Given the description of an element on the screen output the (x, y) to click on. 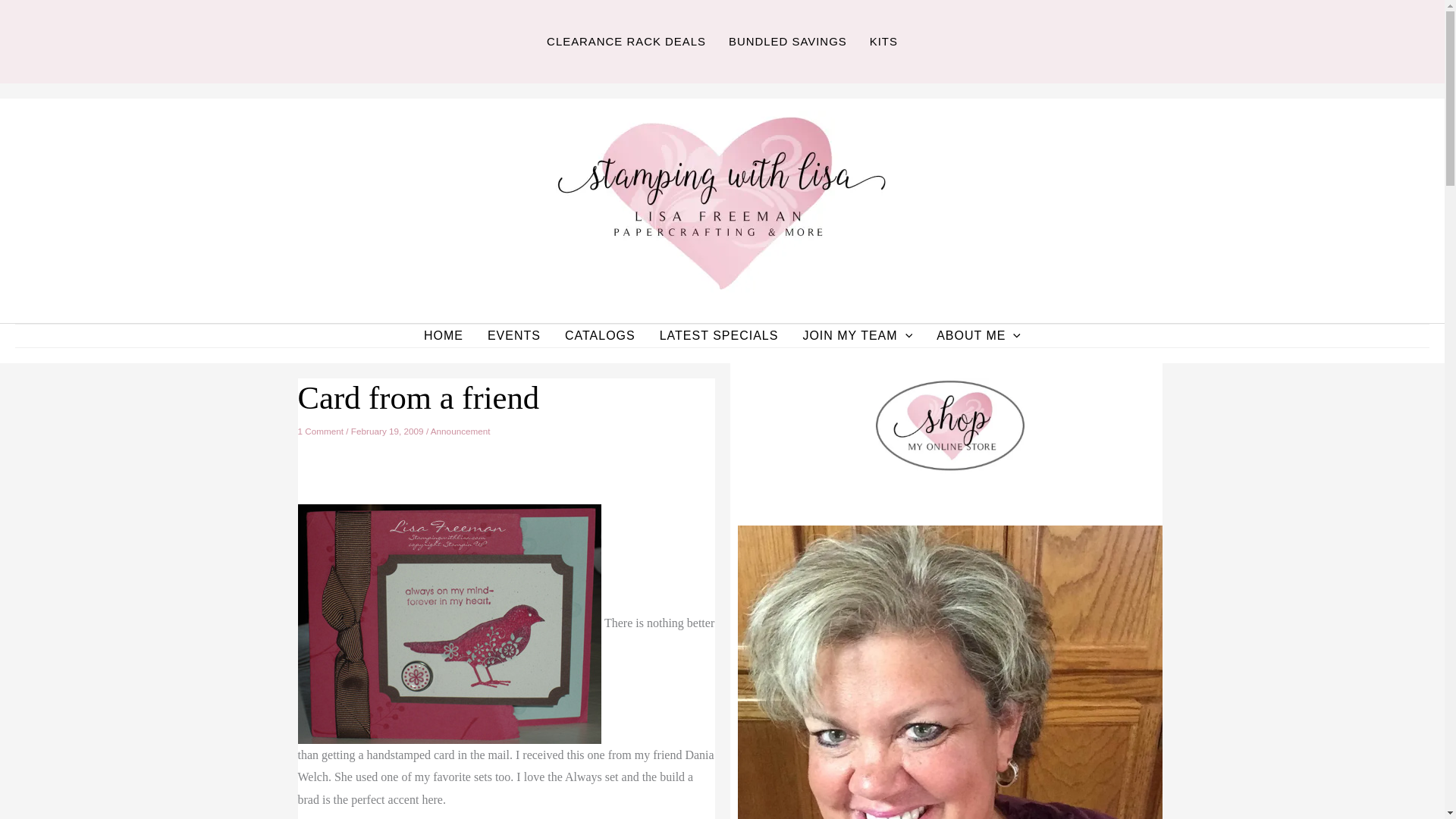
HOME (444, 335)
Announcement (460, 430)
EVENTS (514, 335)
LATEST SPECIALS (718, 335)
CLEARANCE RACK DEALS (626, 41)
BUNDLED SAVINGS (788, 41)
1 Comment (320, 430)
ABOUT ME (978, 335)
CATALOGS (600, 335)
JOIN MY TEAM (857, 335)
